Given the description of an element on the screen output the (x, y) to click on. 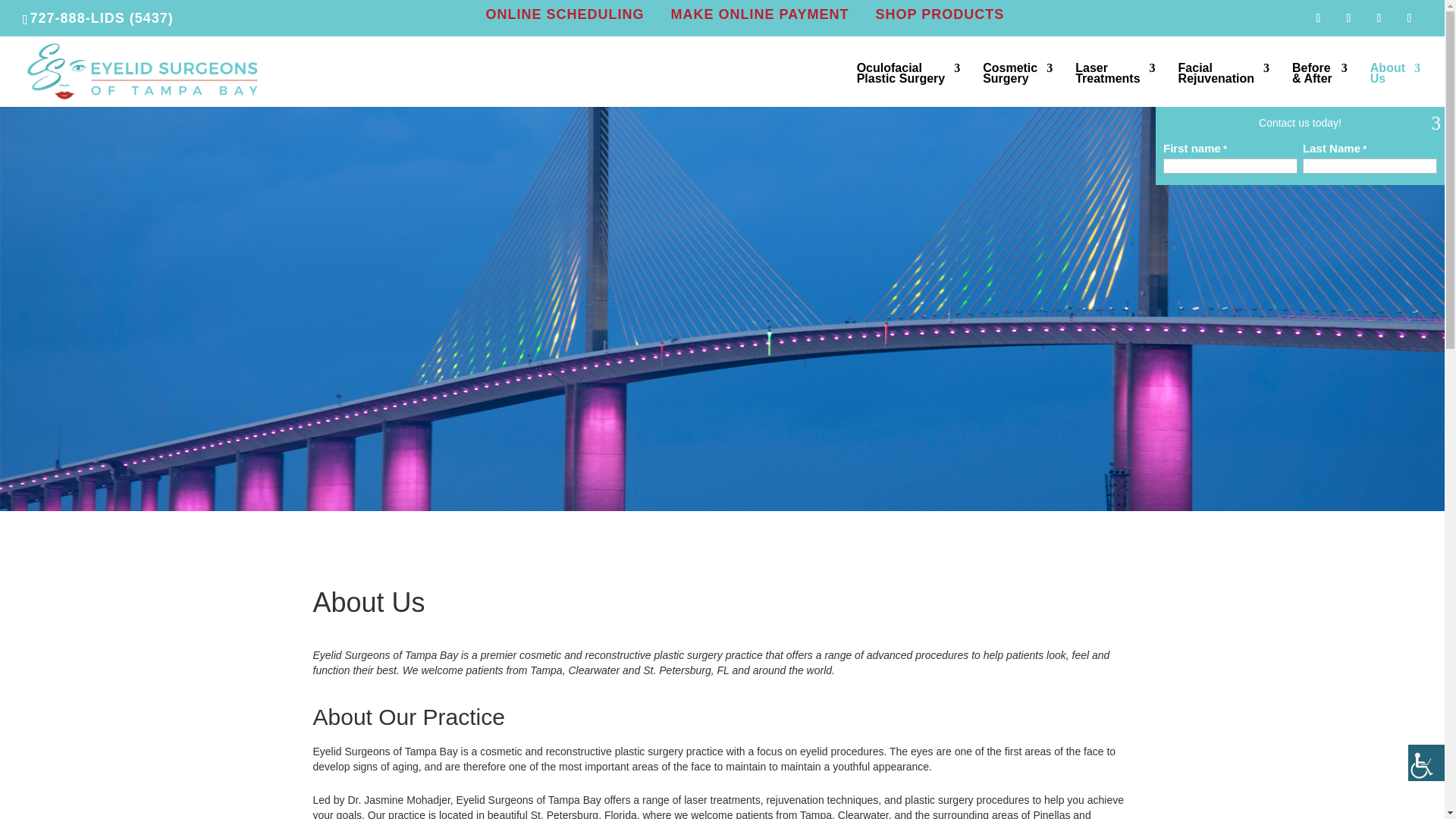
SHOP PRODUCTS (908, 85)
MAKE ONLINE PAYMENT (939, 14)
ONLINE SCHEDULING (758, 14)
